Given the description of an element on the screen output the (x, y) to click on. 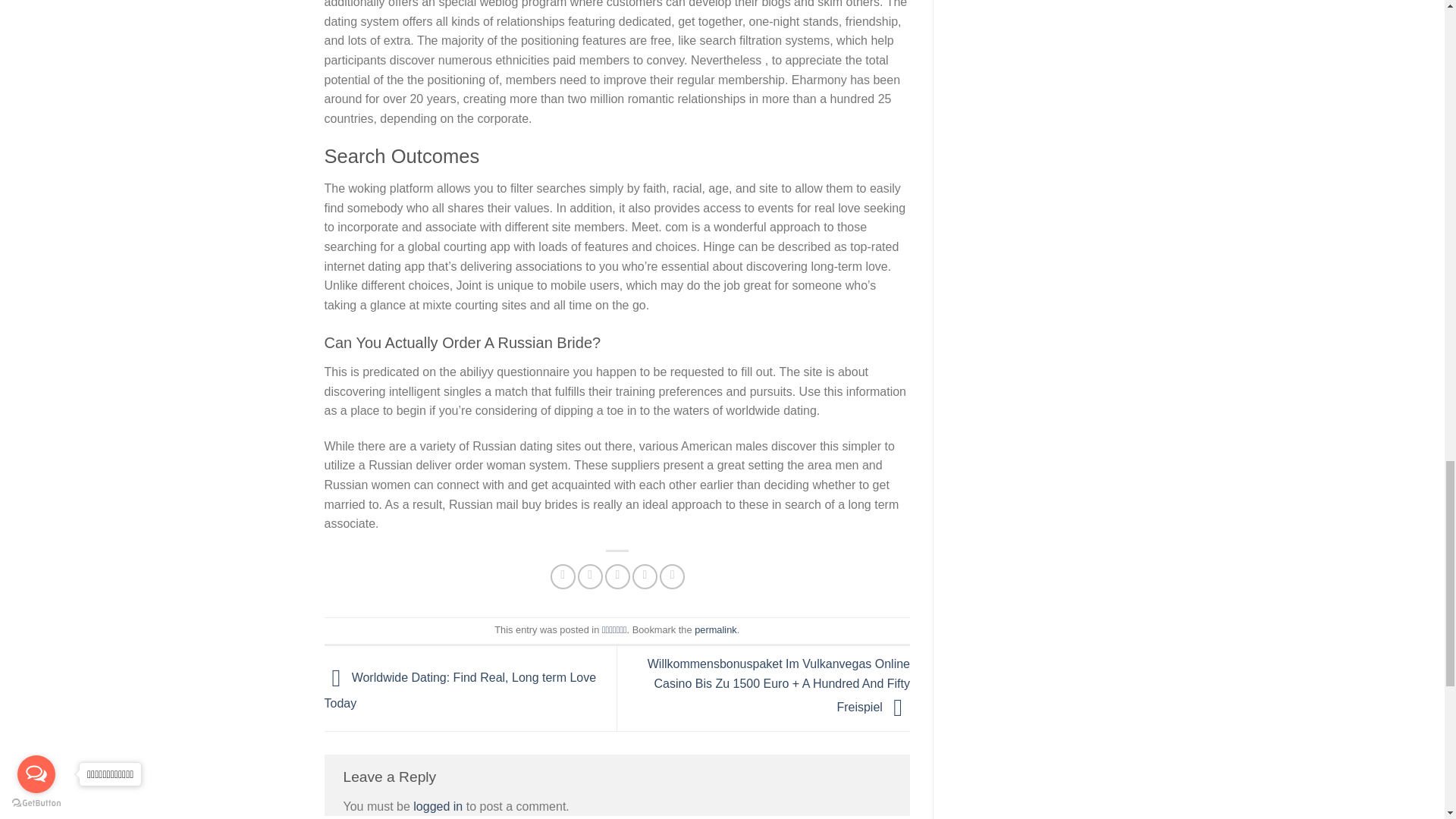
Worldwide Dating: Find Real, Long term Love Today (460, 690)
logged in (438, 806)
permalink (715, 629)
